Given the description of an element on the screen output the (x, y) to click on. 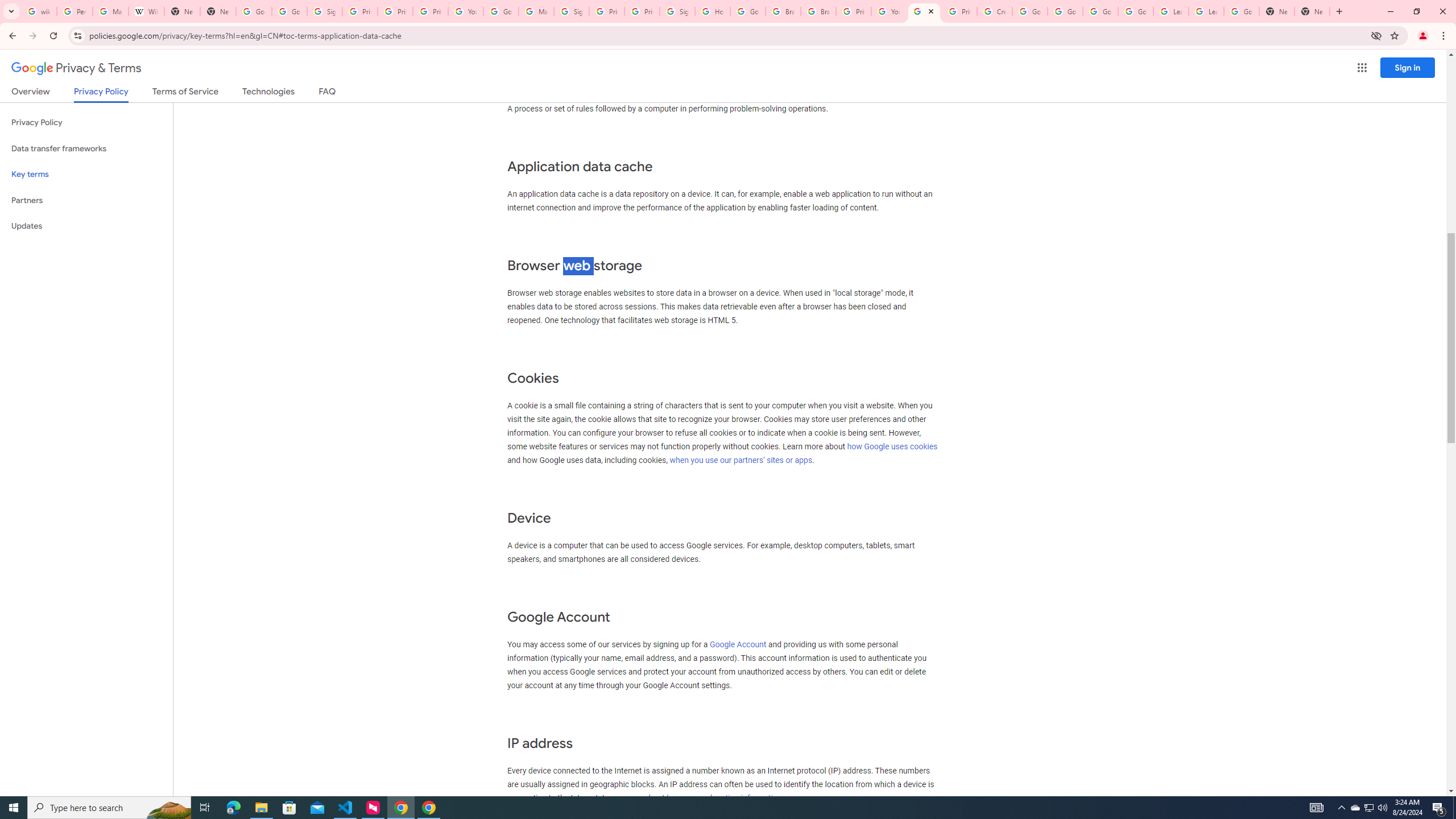
Personalization & Google Search results - Google Search Help (74, 11)
Google Account (1240, 11)
Sign in - Google Accounts (324, 11)
New Tab (218, 11)
YouTube (888, 11)
